Given the description of an element on the screen output the (x, y) to click on. 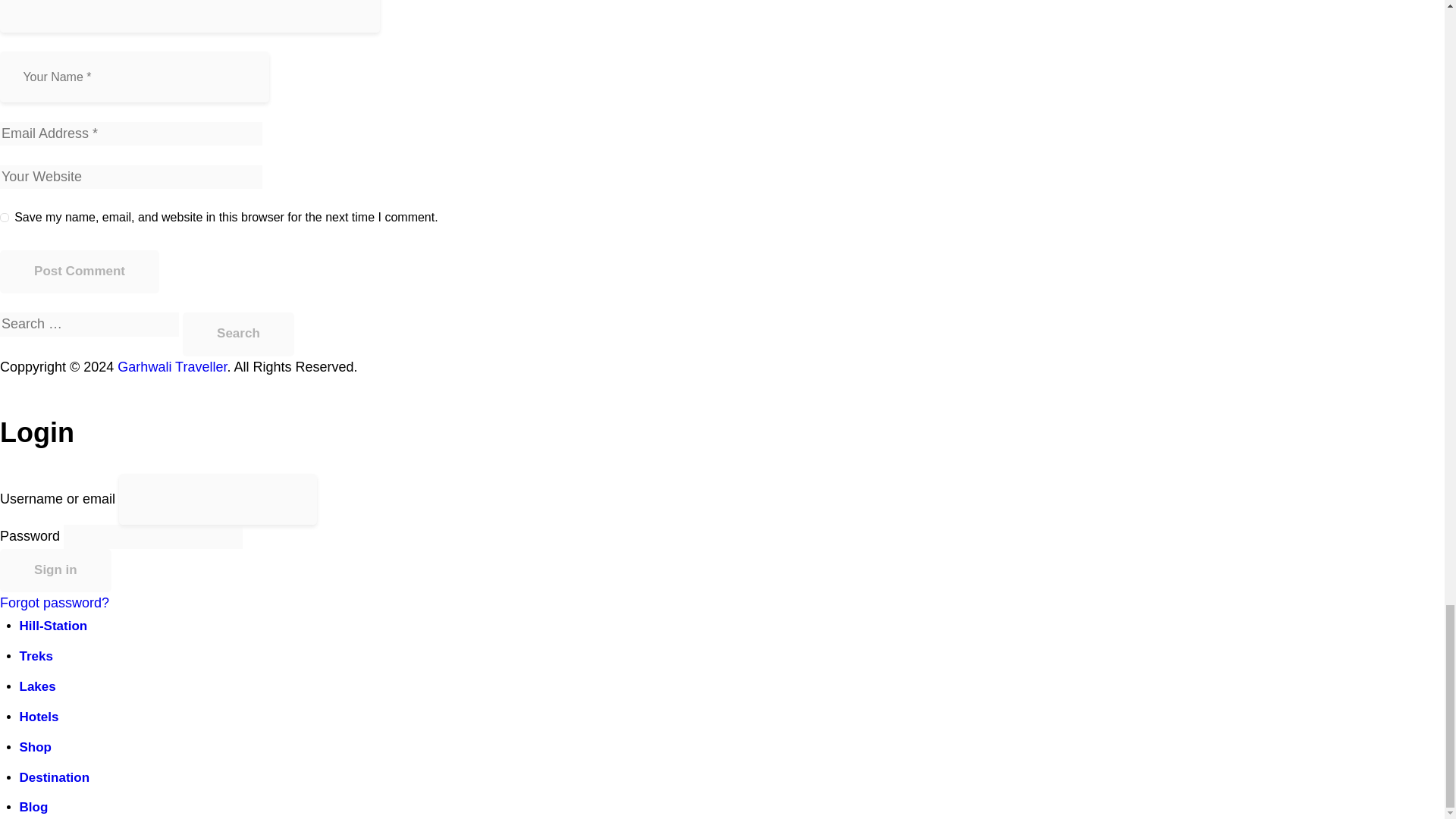
Post Comment (79, 271)
Hill-Station (53, 626)
Lakes (38, 686)
Post Comment (79, 271)
Forgot password? (54, 602)
Blog (34, 807)
Sign in (56, 570)
Treks (36, 656)
Search (238, 333)
Search (238, 333)
Search (238, 333)
Shop (36, 747)
Sign in (56, 570)
Hotels (39, 716)
yes (5, 213)
